Given the description of an element on the screen output the (x, y) to click on. 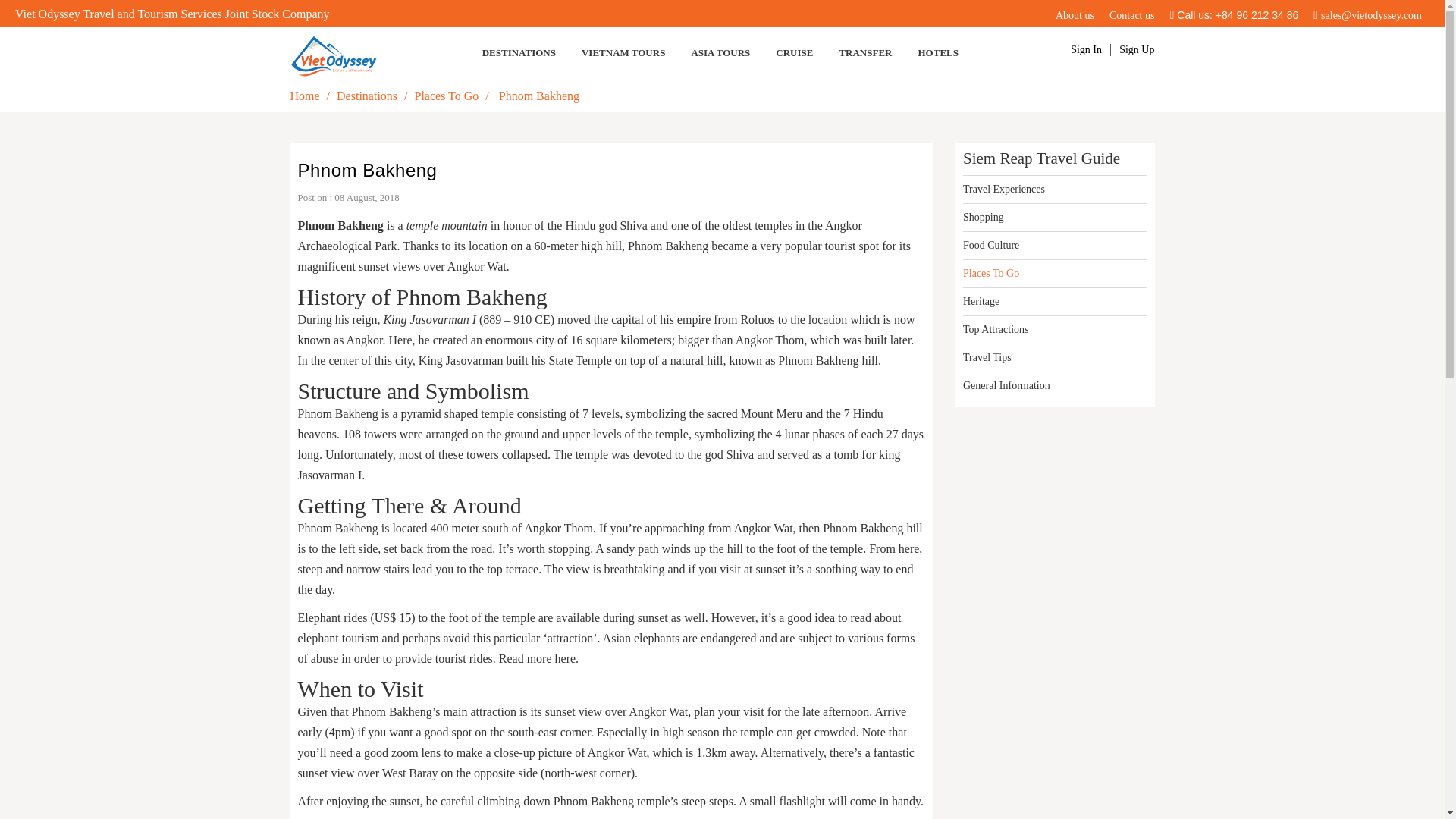
Contact Us (1131, 15)
Vietnam Tours (623, 52)
Contact us (1131, 15)
DESTINATIONS (518, 52)
About us (1074, 15)
Destinations (518, 52)
